Given the description of an element on the screen output the (x, y) to click on. 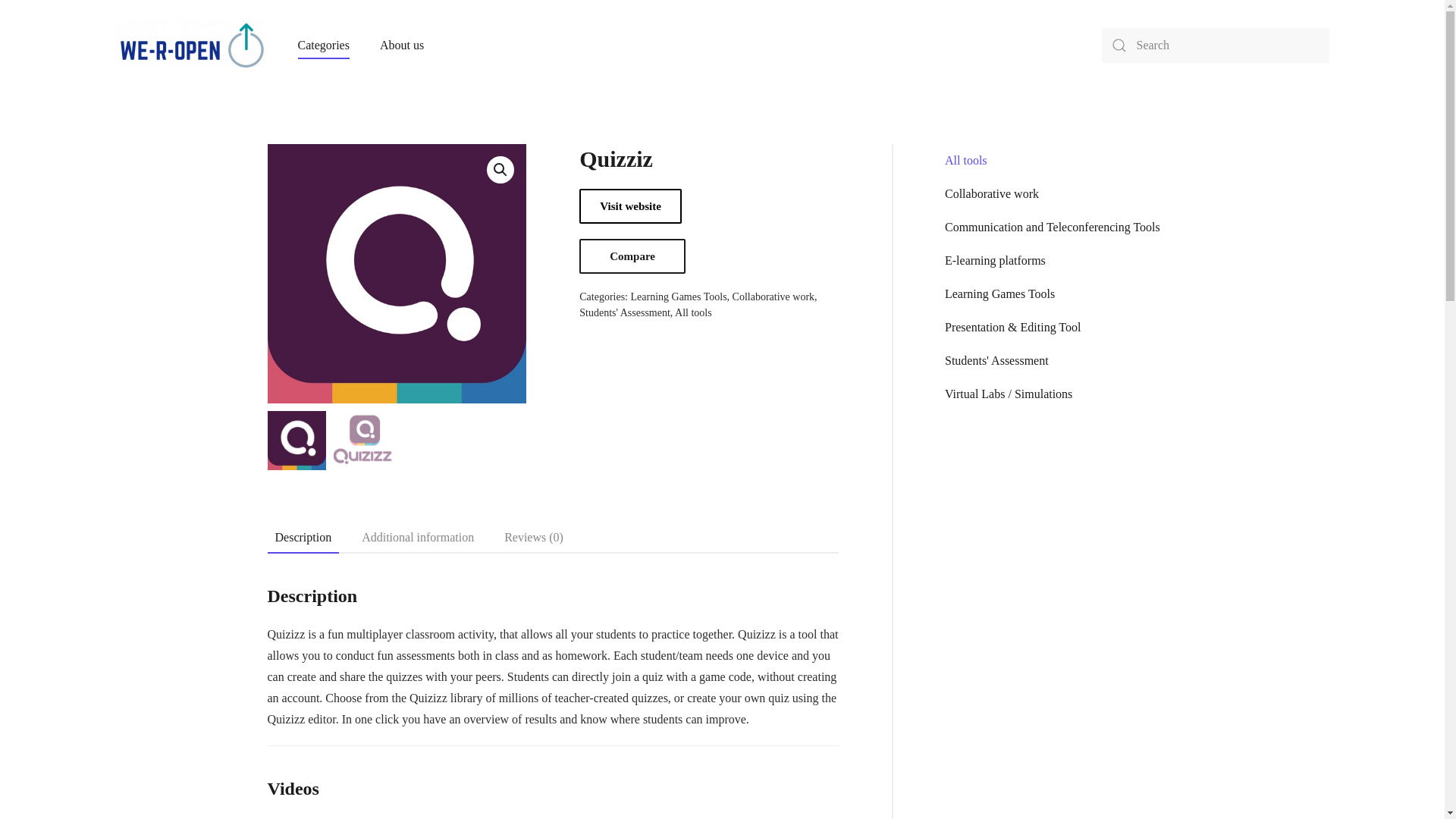
All tools (693, 312)
103a.jpg (395, 273)
Description (302, 538)
Students' Assessment (624, 312)
Visit website (630, 206)
Compare (632, 256)
103b.png (655, 221)
Learning Games Tools (678, 296)
Additional information (417, 538)
